Given the description of an element on the screen output the (x, y) to click on. 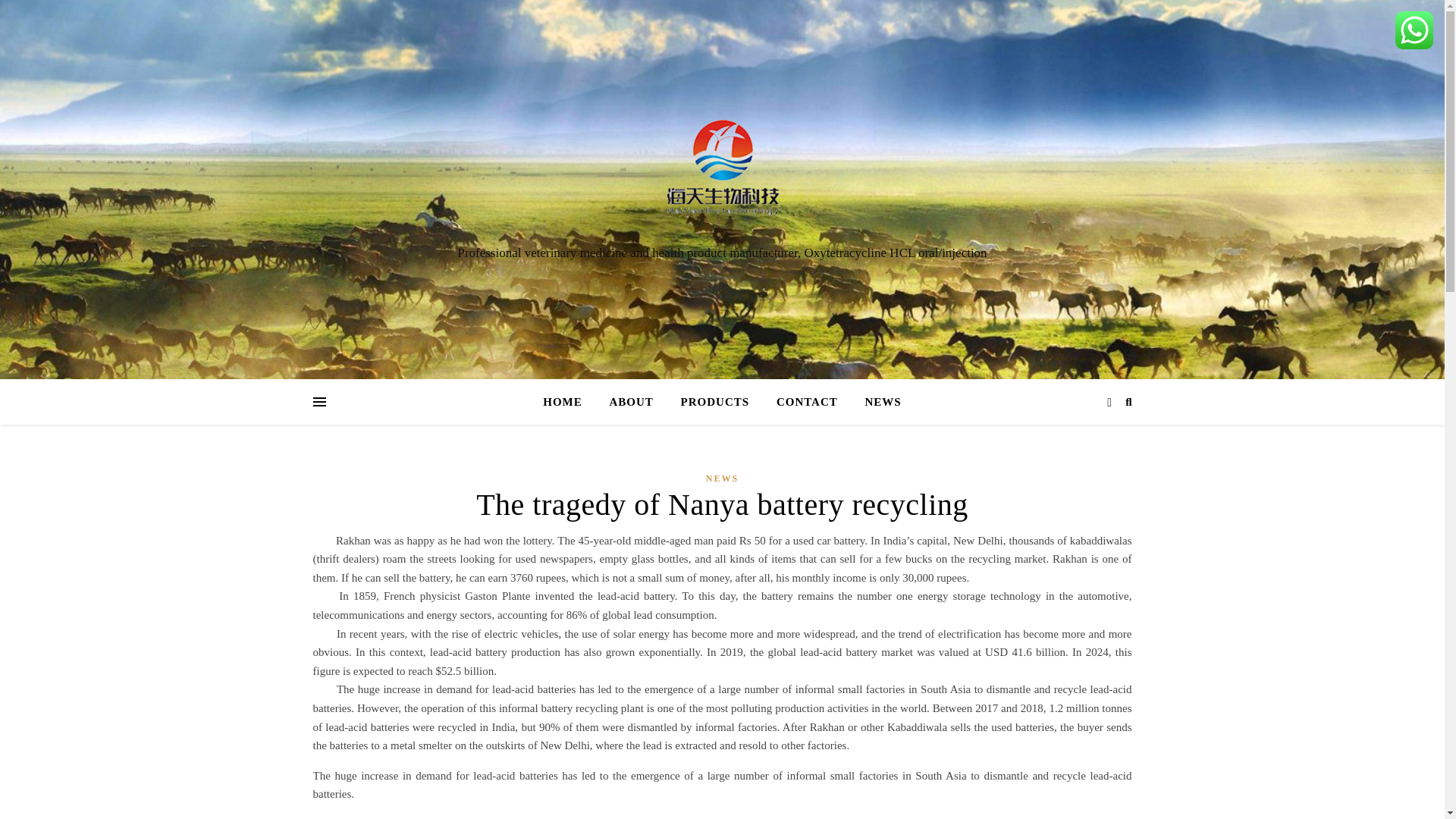
Henan Haitian Biotechnology Co Ltd (721, 175)
HOME (568, 402)
CONTACT (807, 402)
NEWS (722, 478)
ABOUT (630, 402)
PRODUCTS (714, 402)
NEWS (877, 402)
